Given the description of an element on the screen output the (x, y) to click on. 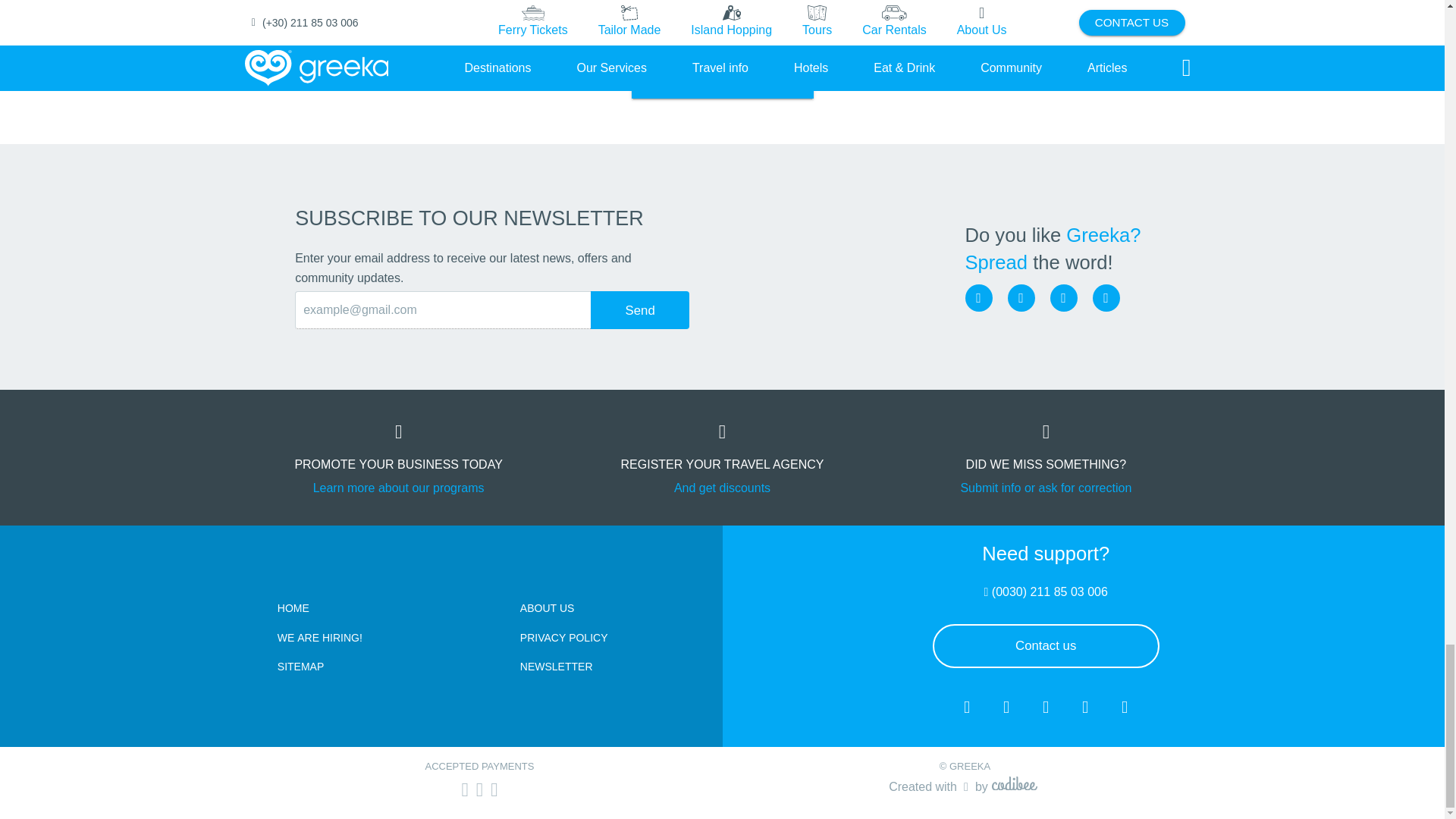
Send (639, 310)
